Given the description of an element on the screen output the (x, y) to click on. 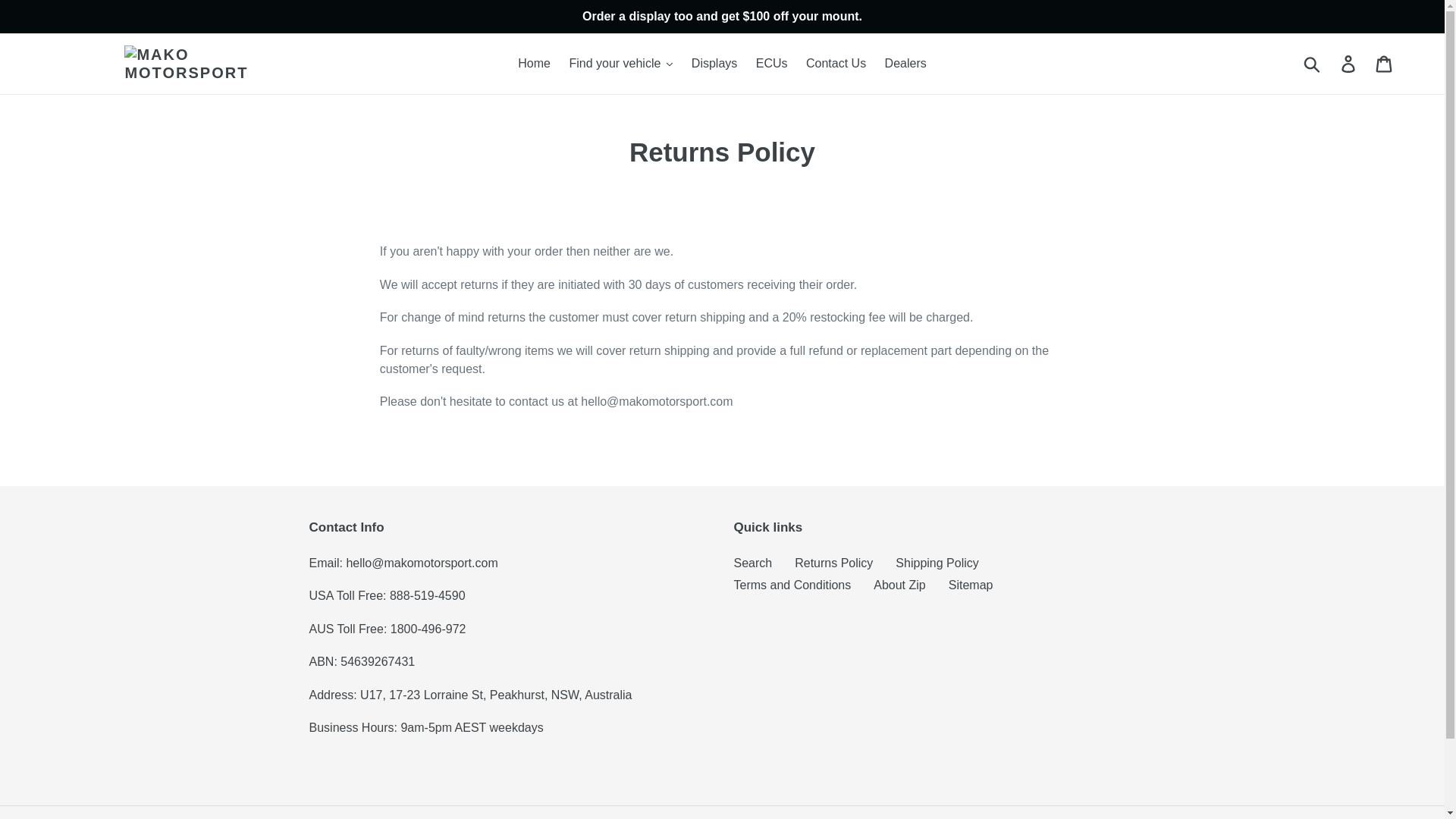
Home (534, 63)
Log in (1349, 63)
Submit (1313, 63)
Cart (1385, 63)
Dealers (905, 63)
ECUs (771, 63)
Displays (714, 63)
Contact Us (835, 63)
